Given the description of an element on the screen output the (x, y) to click on. 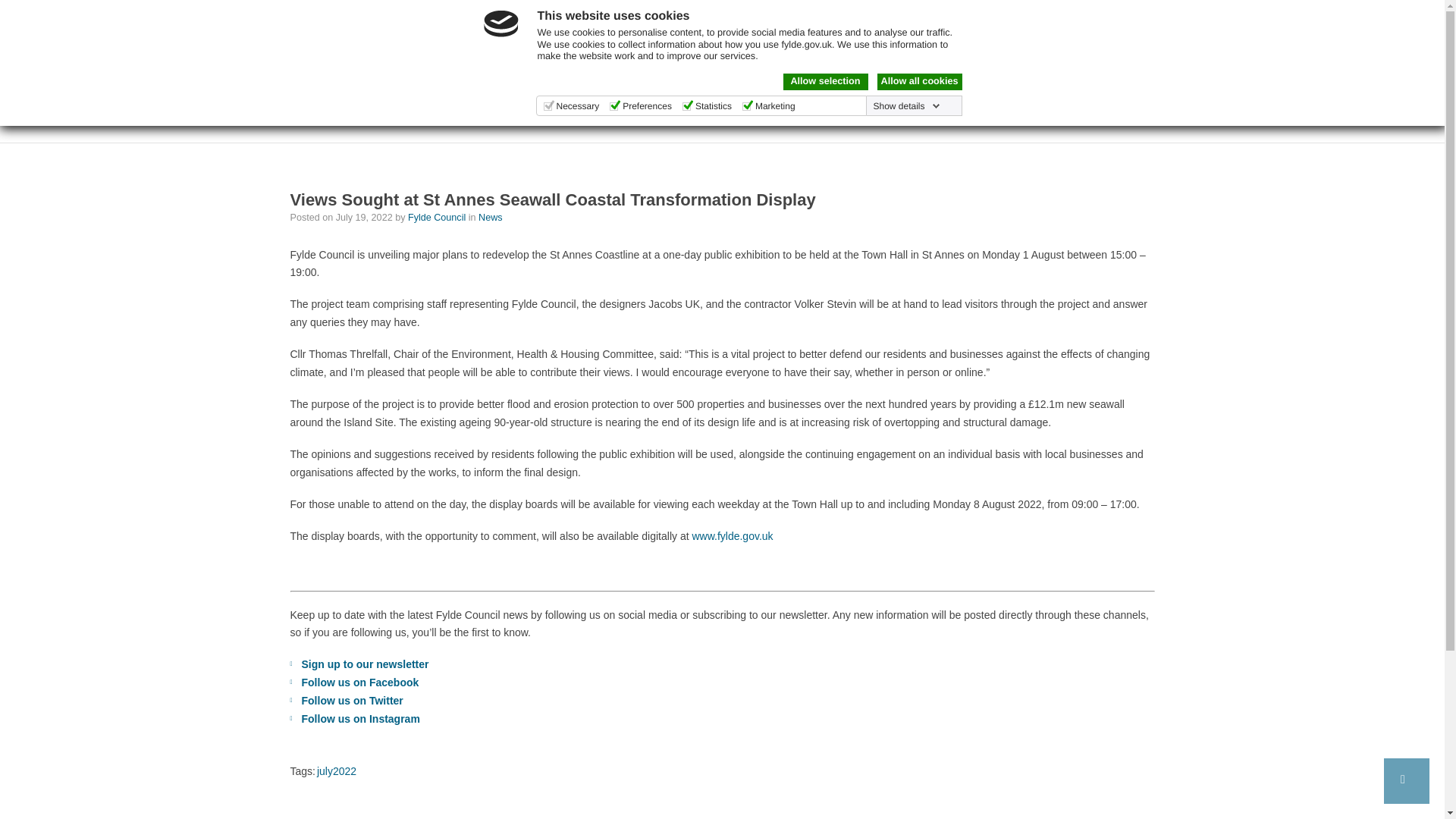
july2022 Tag (336, 770)
Smaller Font (1095, 14)
Night contrast (923, 14)
Allow all cookies (918, 81)
Wide layout (1049, 14)
View all posts by Fylde Council (437, 217)
Black and Yellow contrast (958, 14)
Fylde Council (365, 83)
Council (784, 62)
Larger Font (1113, 14)
Black and White contrast (941, 14)
Business (703, 62)
Resident (619, 62)
